Given the description of an element on the screen output the (x, y) to click on. 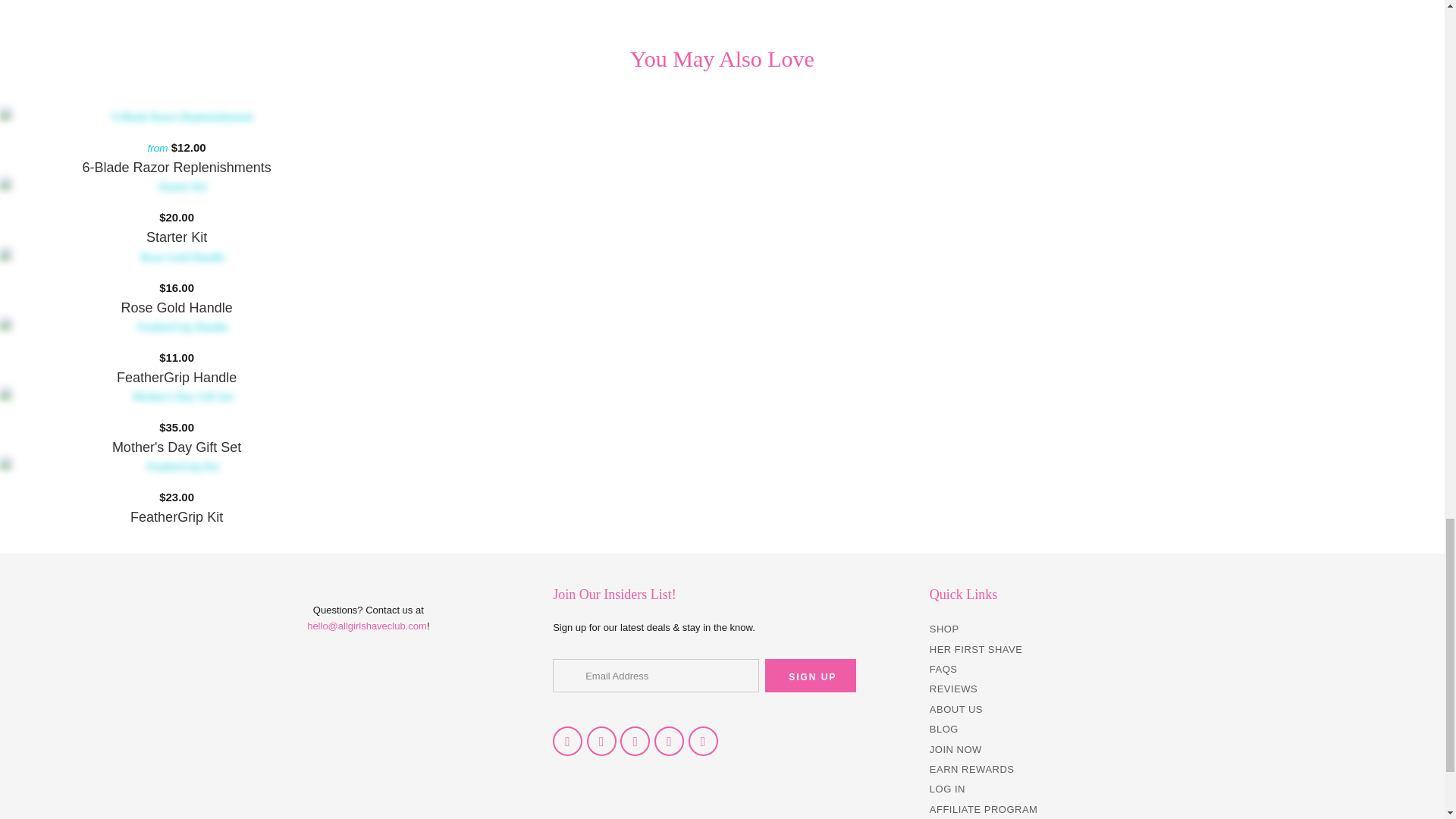
All Girl Shave Club on Pinterest (634, 740)
All Girl Shave Club on YouTube (600, 740)
Sign Up (810, 675)
All Girl Shave Club on Facebook (567, 740)
